Given the description of an element on the screen output the (x, y) to click on. 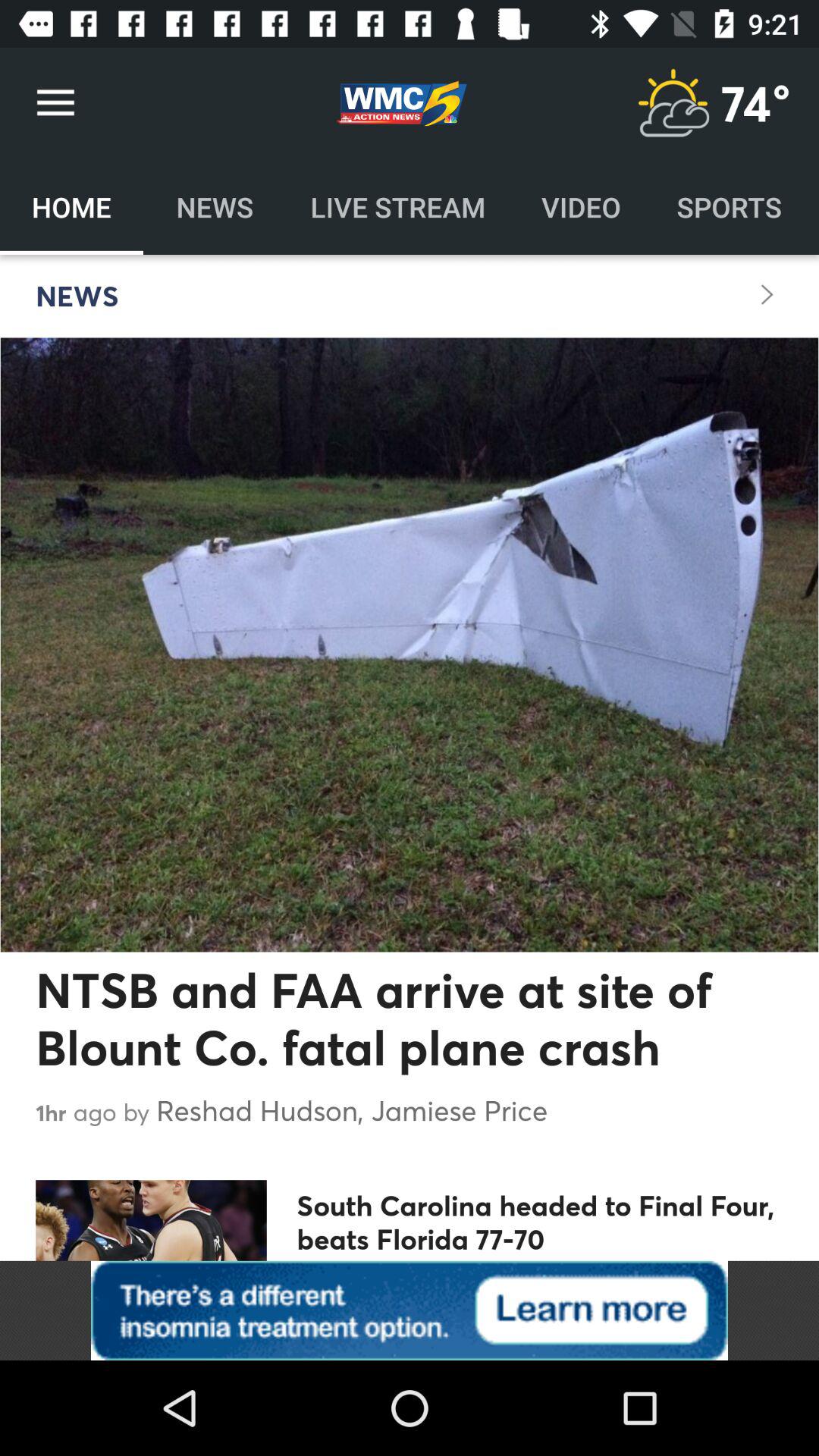
linked to website/app (409, 1310)
